Given the description of an element on the screen output the (x, y) to click on. 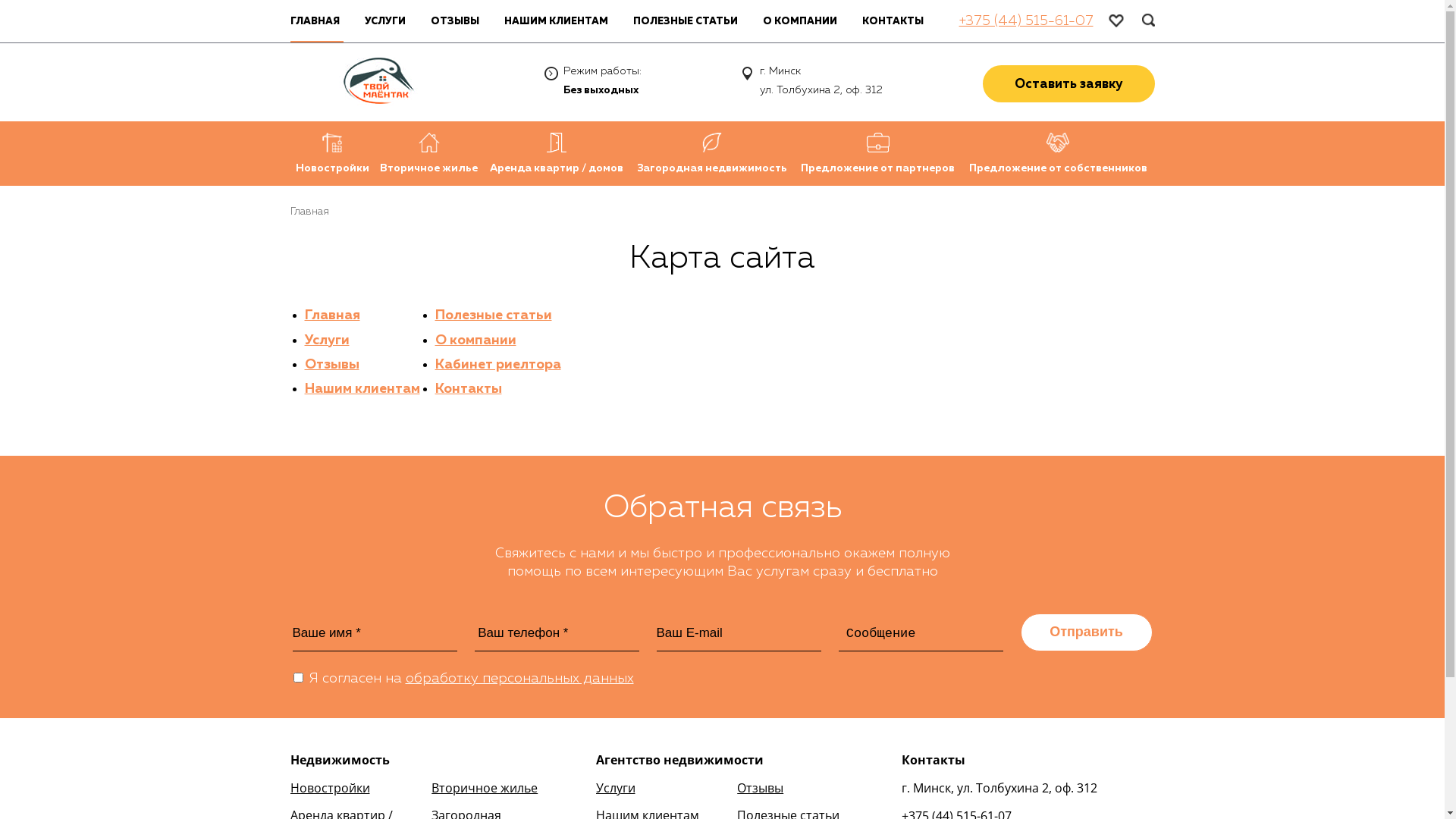
+375 (44) 515-61-07 Element type: text (1025, 21)
logo.jpg Element type: hover (377, 81)
